Given the description of an element on the screen output the (x, y) to click on. 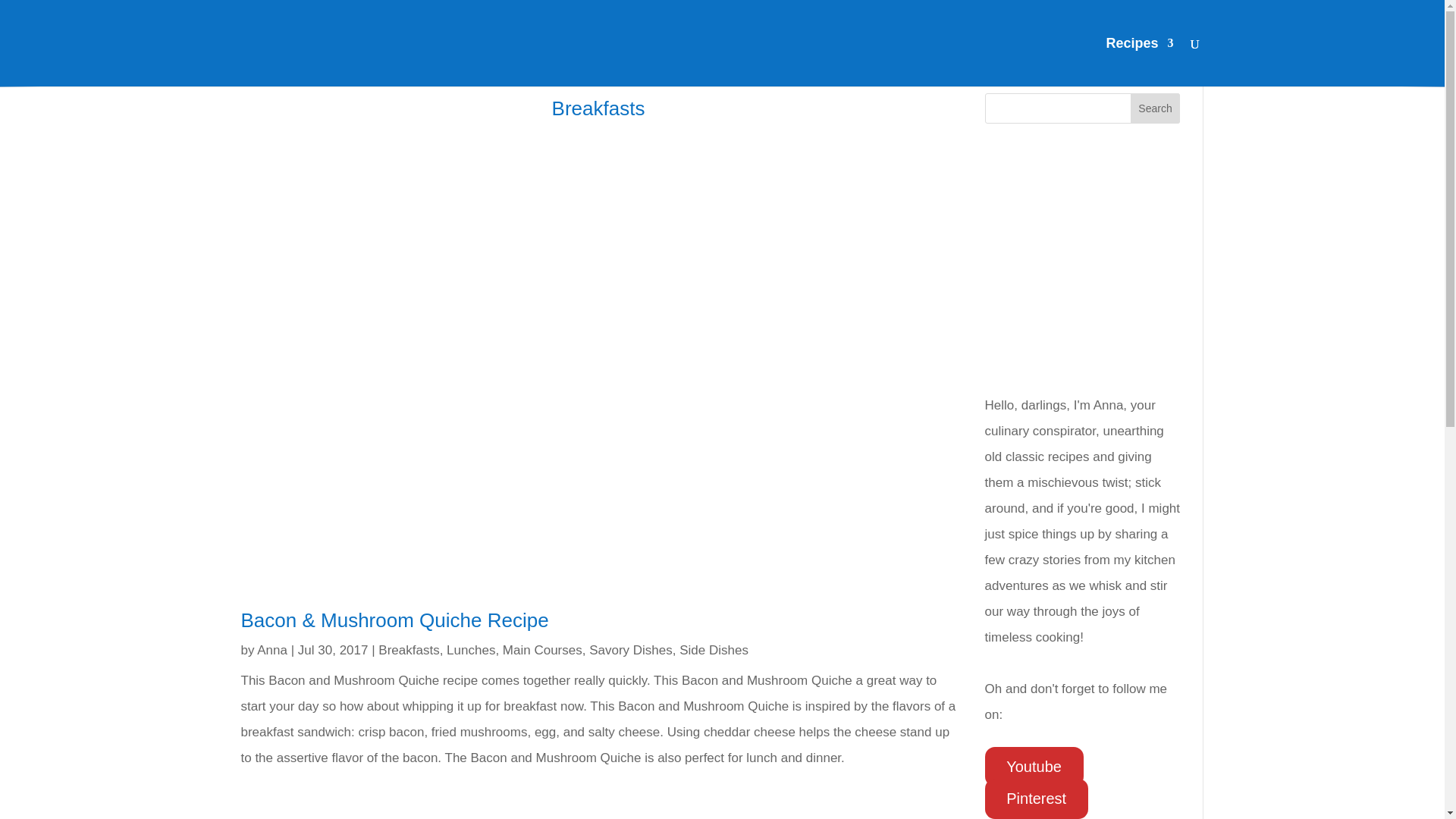
Side Dishes (713, 649)
Savory Dishes (630, 649)
Lunches (470, 649)
Youtube (1034, 766)
Main Courses (542, 649)
Recipes (1139, 61)
Anna (271, 649)
Search (1155, 108)
Posts by Anna (271, 649)
Pinterest (1036, 798)
Search (1155, 108)
Breakfasts (408, 649)
